Given the description of an element on the screen output the (x, y) to click on. 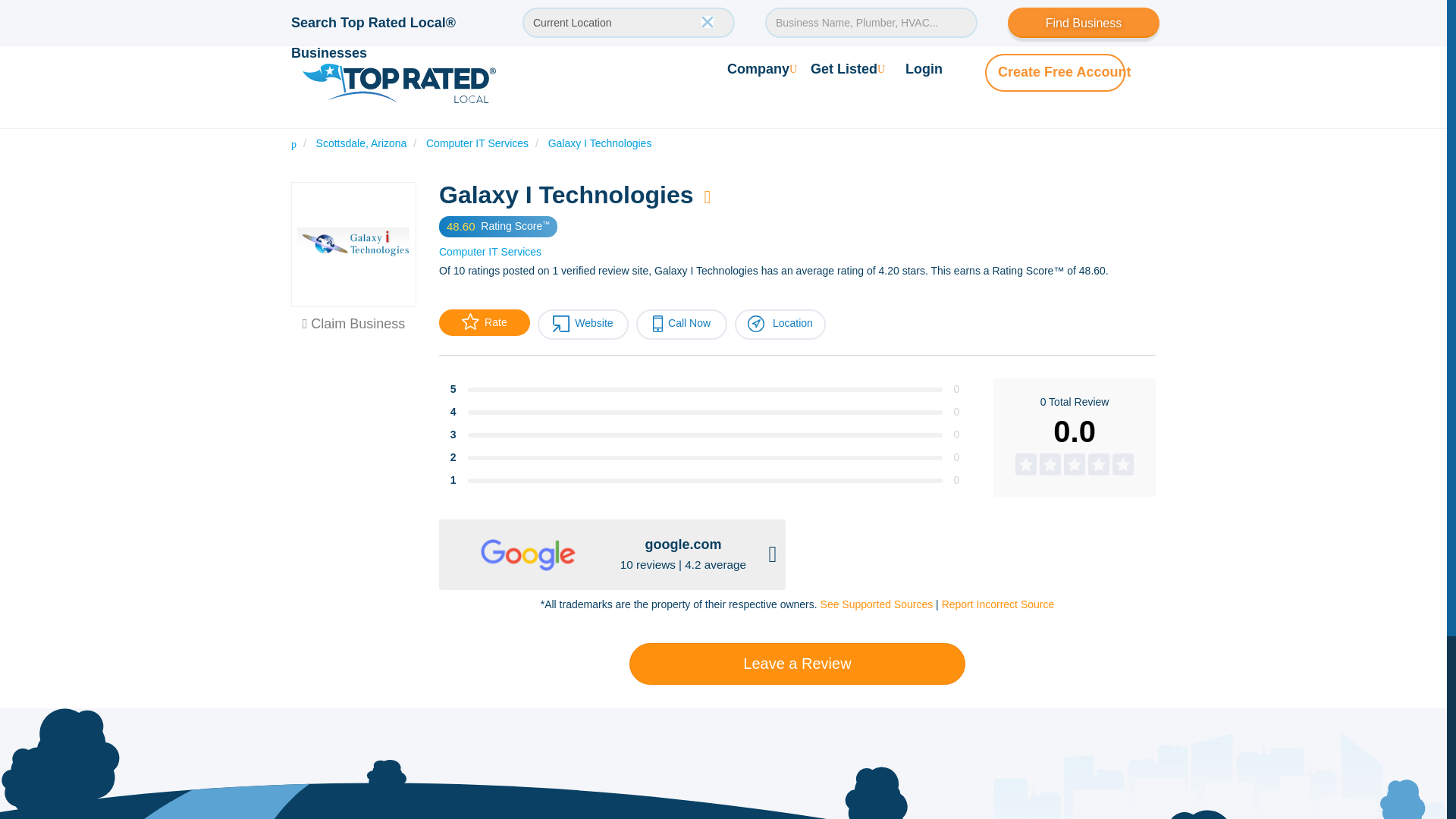
Login (923, 68)
Find Business (1082, 22)
Galaxy I Technologies (600, 143)
Scottsdale, Arizona (361, 143)
Claim Business (354, 323)
Computer IT Services (477, 143)
Company (761, 68)
Create Free Account (1064, 70)
Get Listed (847, 68)
Rate (484, 322)
